Given the description of an element on the screen output the (x, y) to click on. 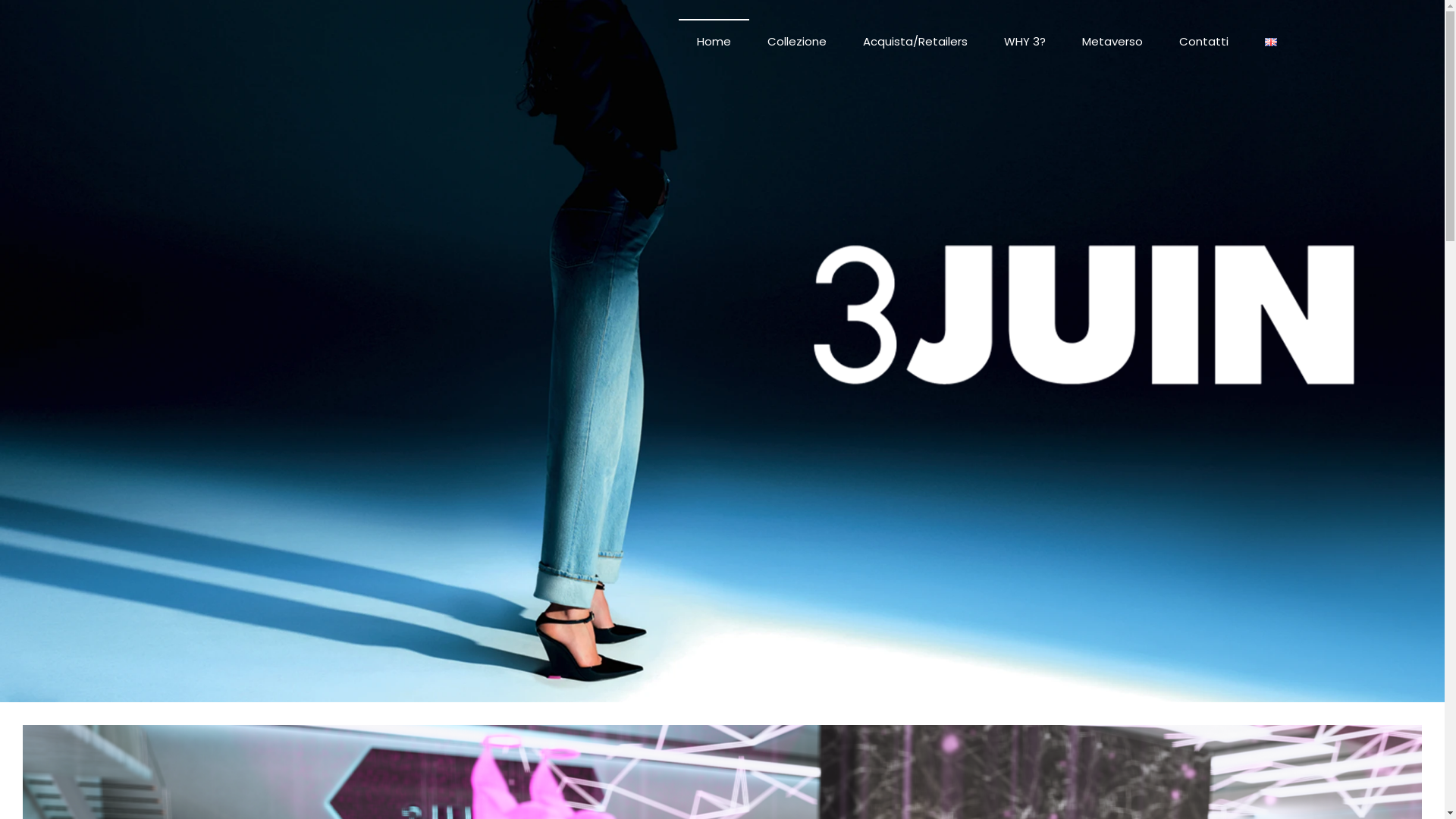
WHY 3? Element type: text (1024, 41)
Acquista/Retailers Element type: text (914, 41)
Contatti Element type: text (1202, 41)
Metaverso Element type: text (1111, 41)
Home Element type: text (712, 41)
Collezione Element type: text (796, 41)
